Given the description of an element on the screen output the (x, y) to click on. 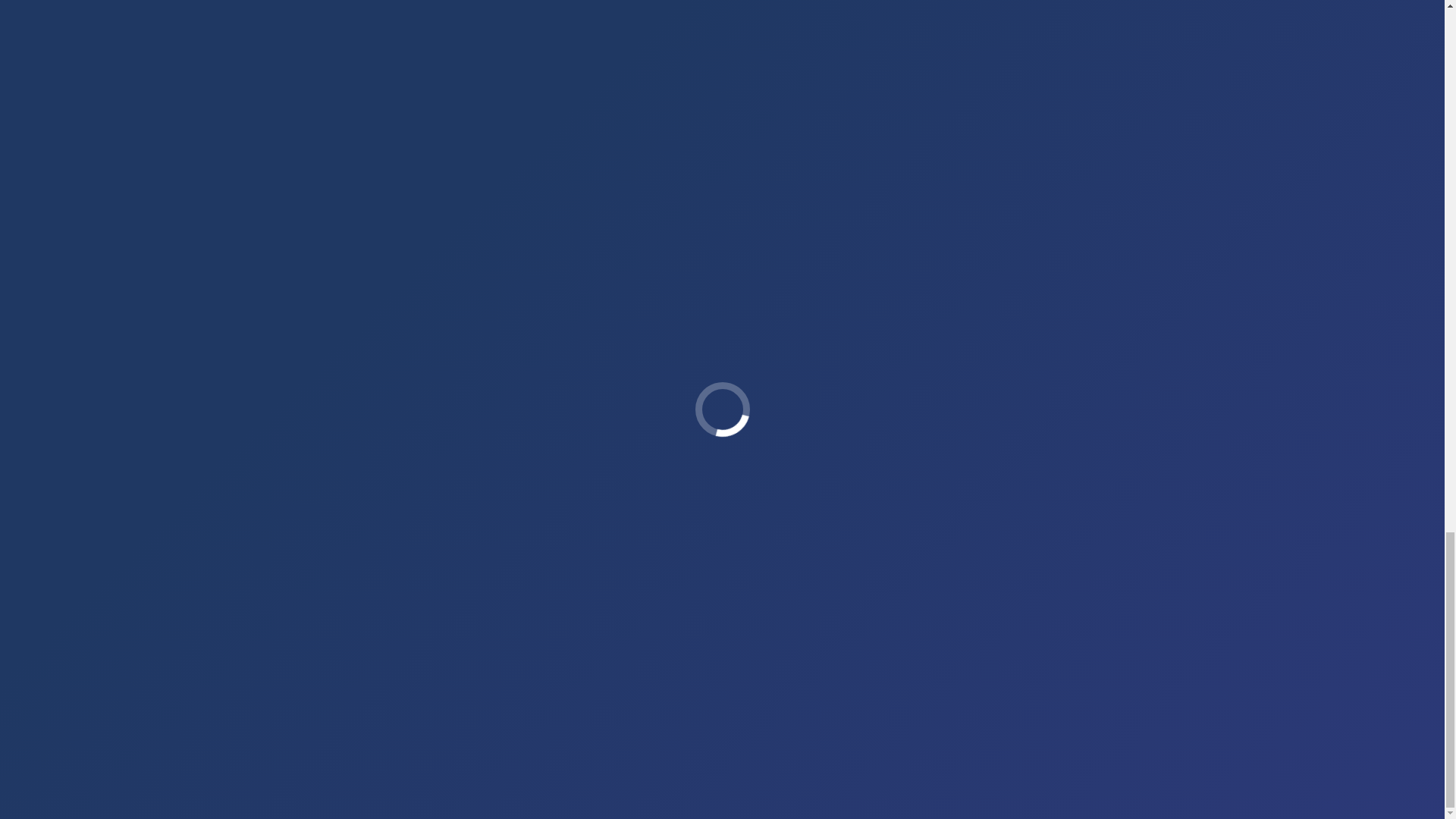
EAST AEGEAN (732, 170)
Instagram page opens in new window (277, 742)
EAST SPAIN PILOT COSTA AZAHAR DORADA AND BRAVA (455, 180)
www.inlandwaterwaysofthenetherlands.com (376, 18)
